Given the description of an element on the screen output the (x, y) to click on. 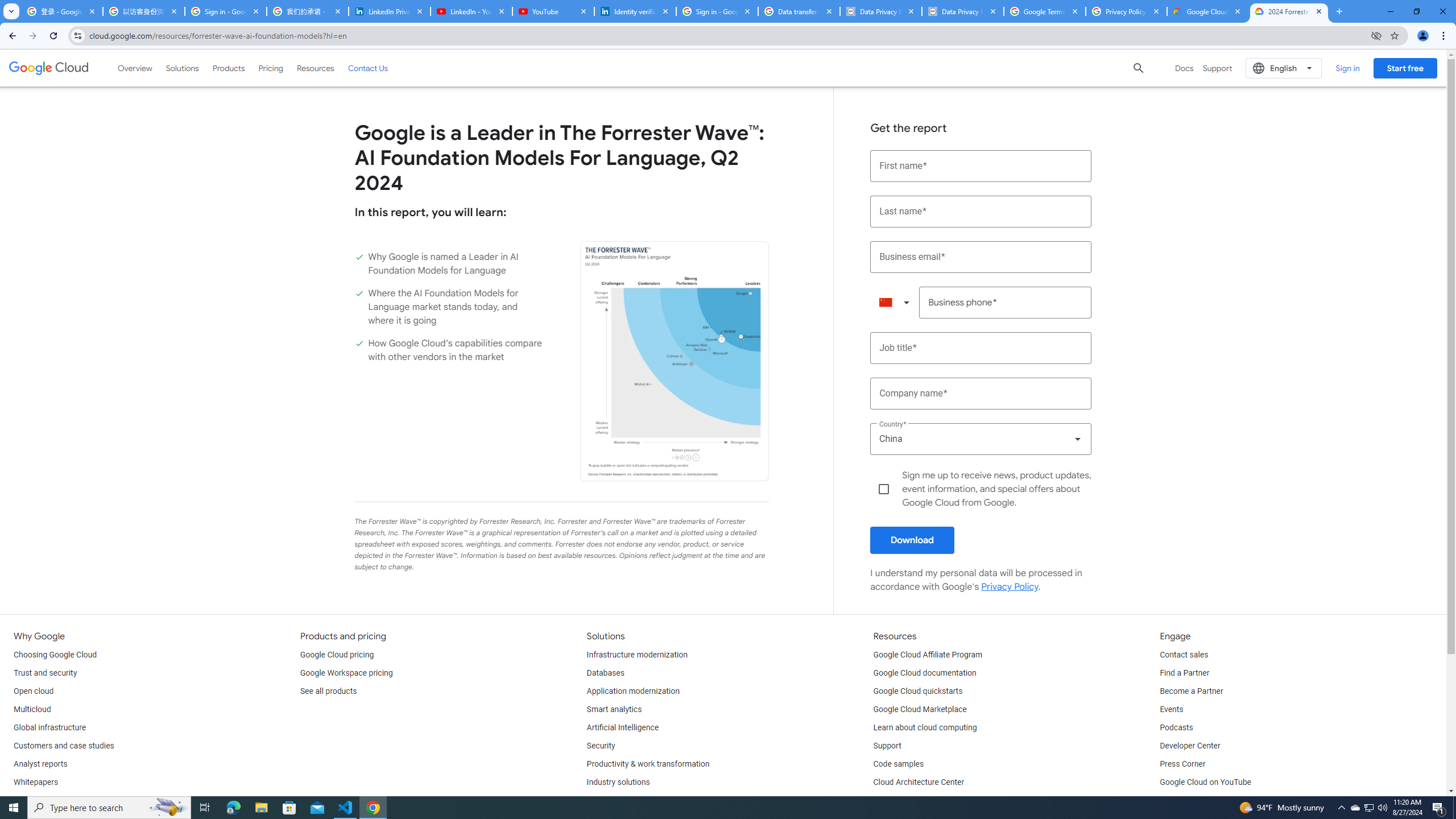
Google Cloud documentation (924, 673)
Last name* (981, 211)
Global infrastructure (49, 728)
Contact sales (1183, 655)
Contact Us (368, 67)
Security (600, 746)
Calling Code (+86) (894, 302)
Download (912, 539)
Training (887, 800)
Trust and security (45, 673)
